Given the description of an element on the screen output the (x, y) to click on. 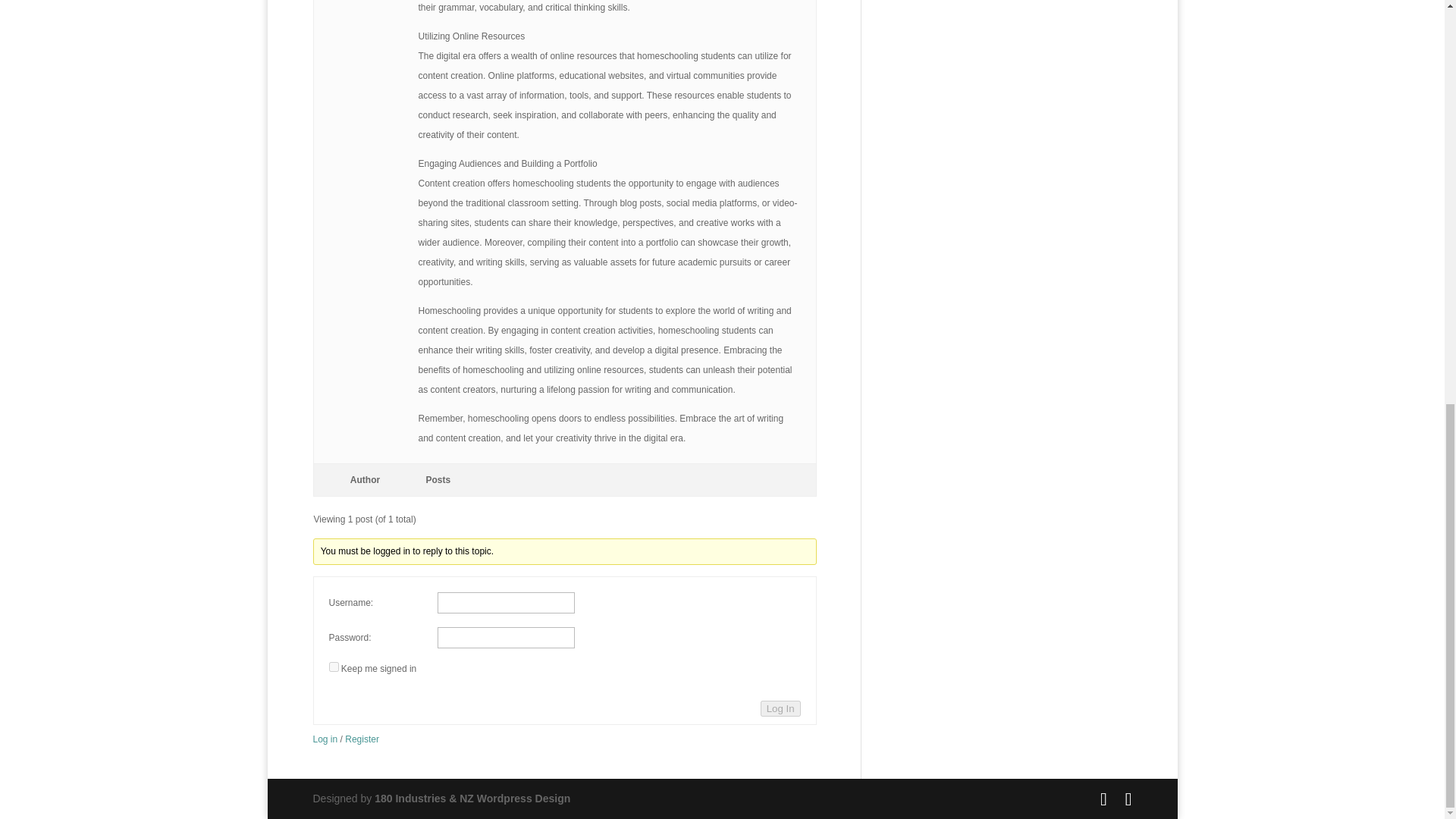
Register (361, 738)
forever (334, 666)
Log In (780, 708)
NZ Wordpress Design (472, 798)
Log in (325, 738)
